Given the description of an element on the screen output the (x, y) to click on. 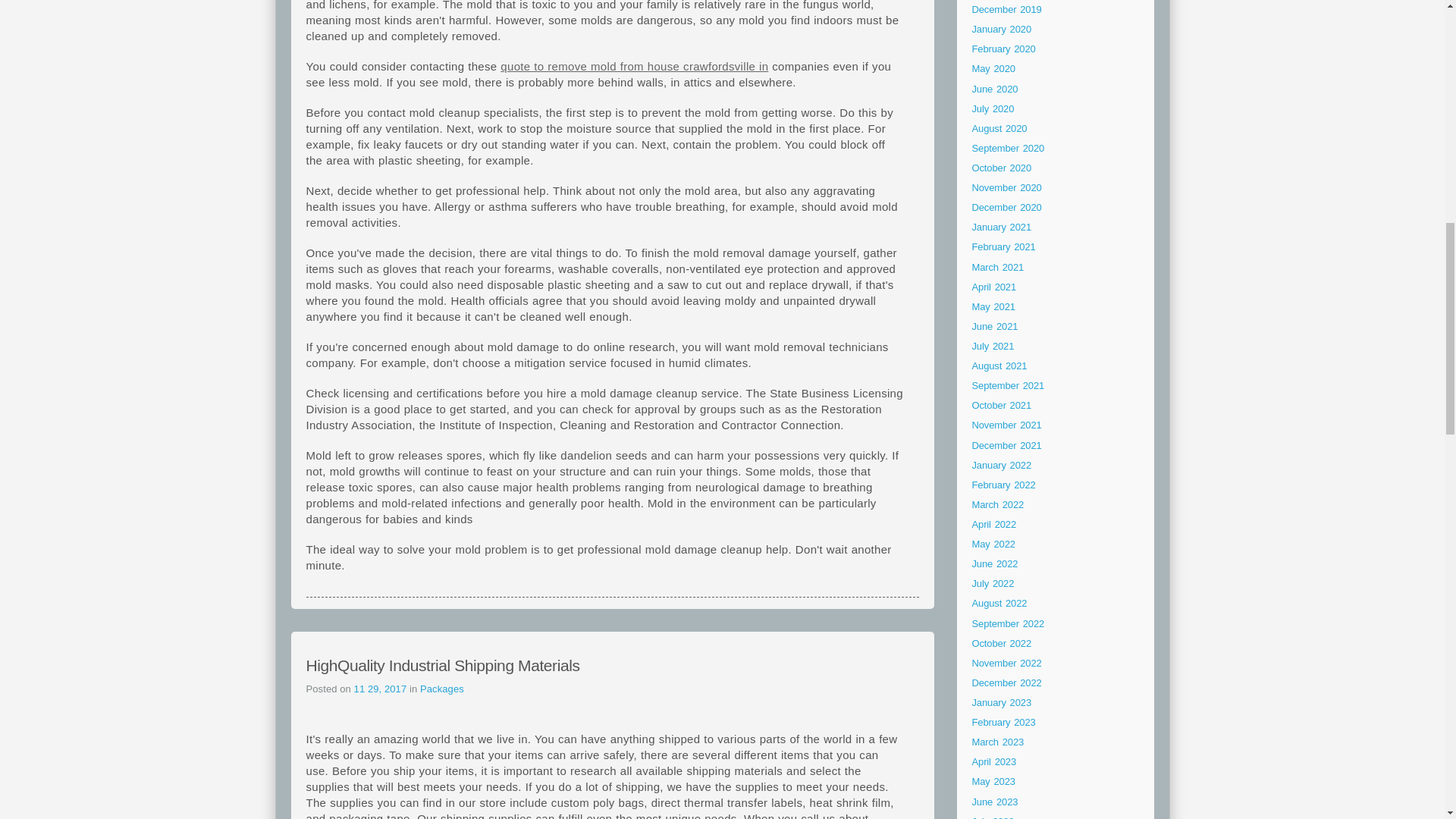
HighQuality Industrial Shipping Materials (442, 665)
11 29, 2017  (381, 688)
HighQuality Industrial Shipping Materials (442, 665)
quote to remove mold from house crawfordsville in (634, 65)
Packages (442, 688)
View all posts in Packages (442, 688)
